Given the description of an element on the screen output the (x, y) to click on. 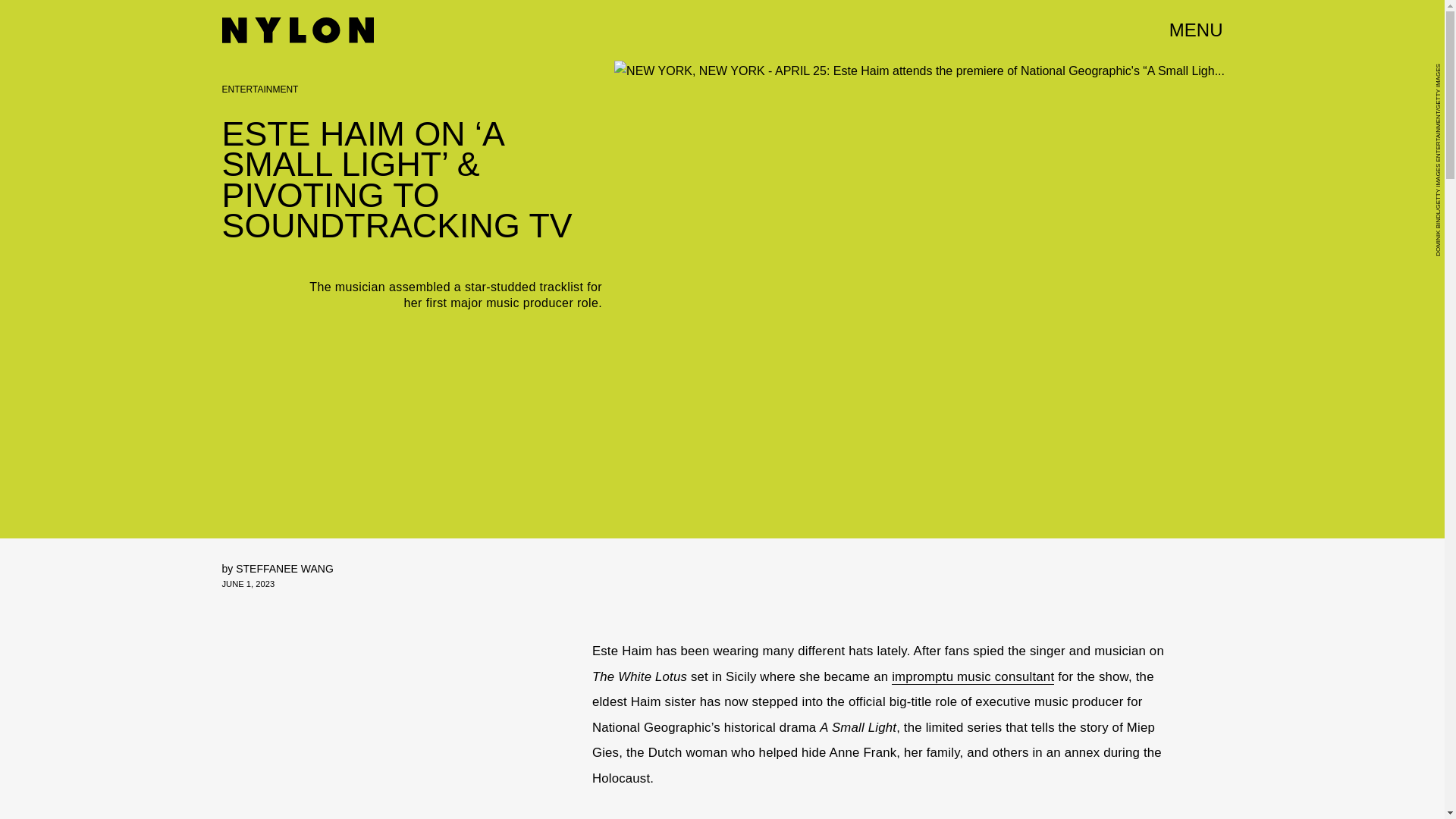
STEFFANEE WANG (284, 568)
impromptu music consultant (972, 676)
Nylon (296, 30)
